Given the description of an element on the screen output the (x, y) to click on. 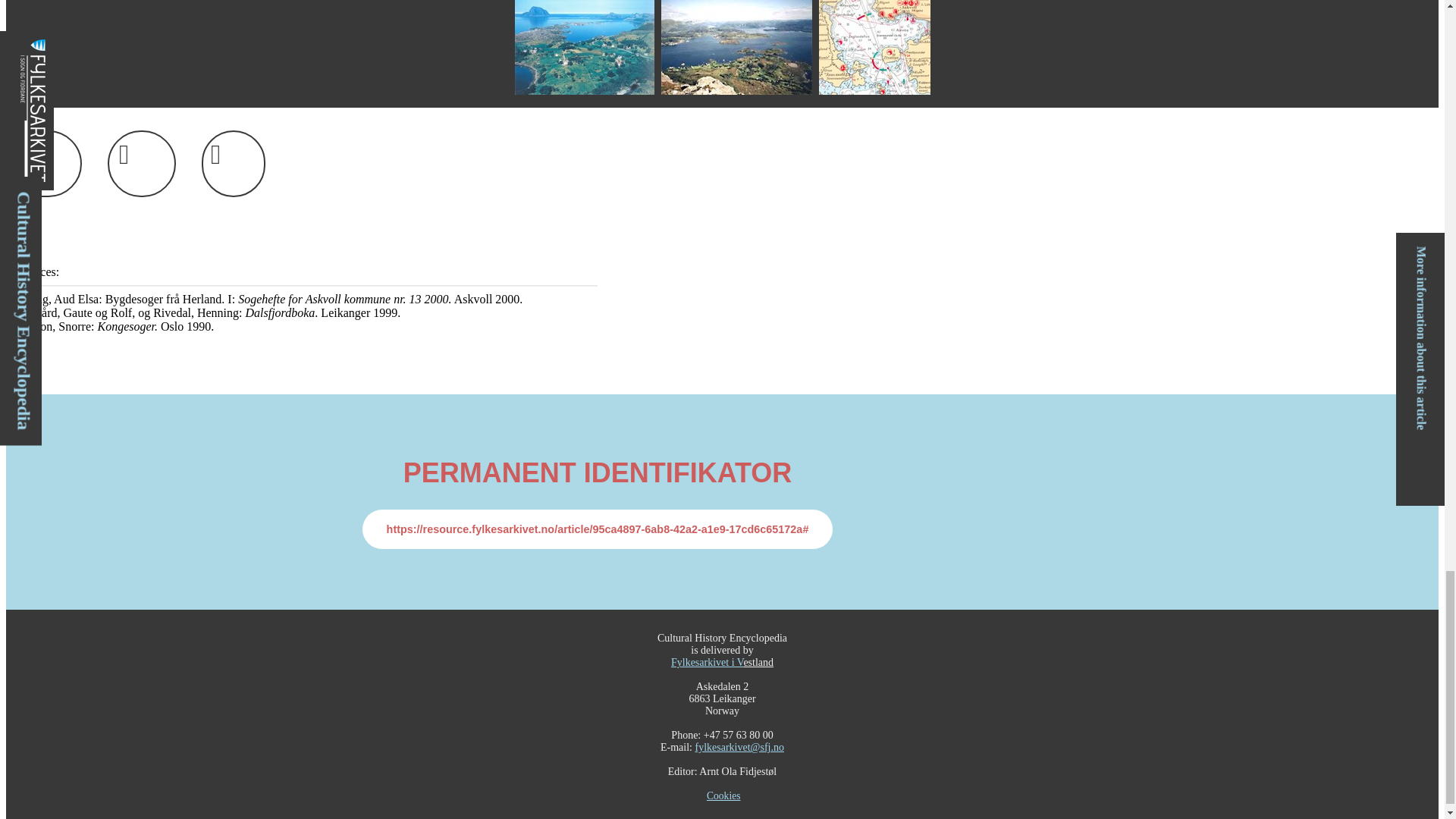
Cookies (723, 795)
Cookies (723, 795)
Fylkesarkivet i V (706, 662)
